Given the description of an element on the screen output the (x, y) to click on. 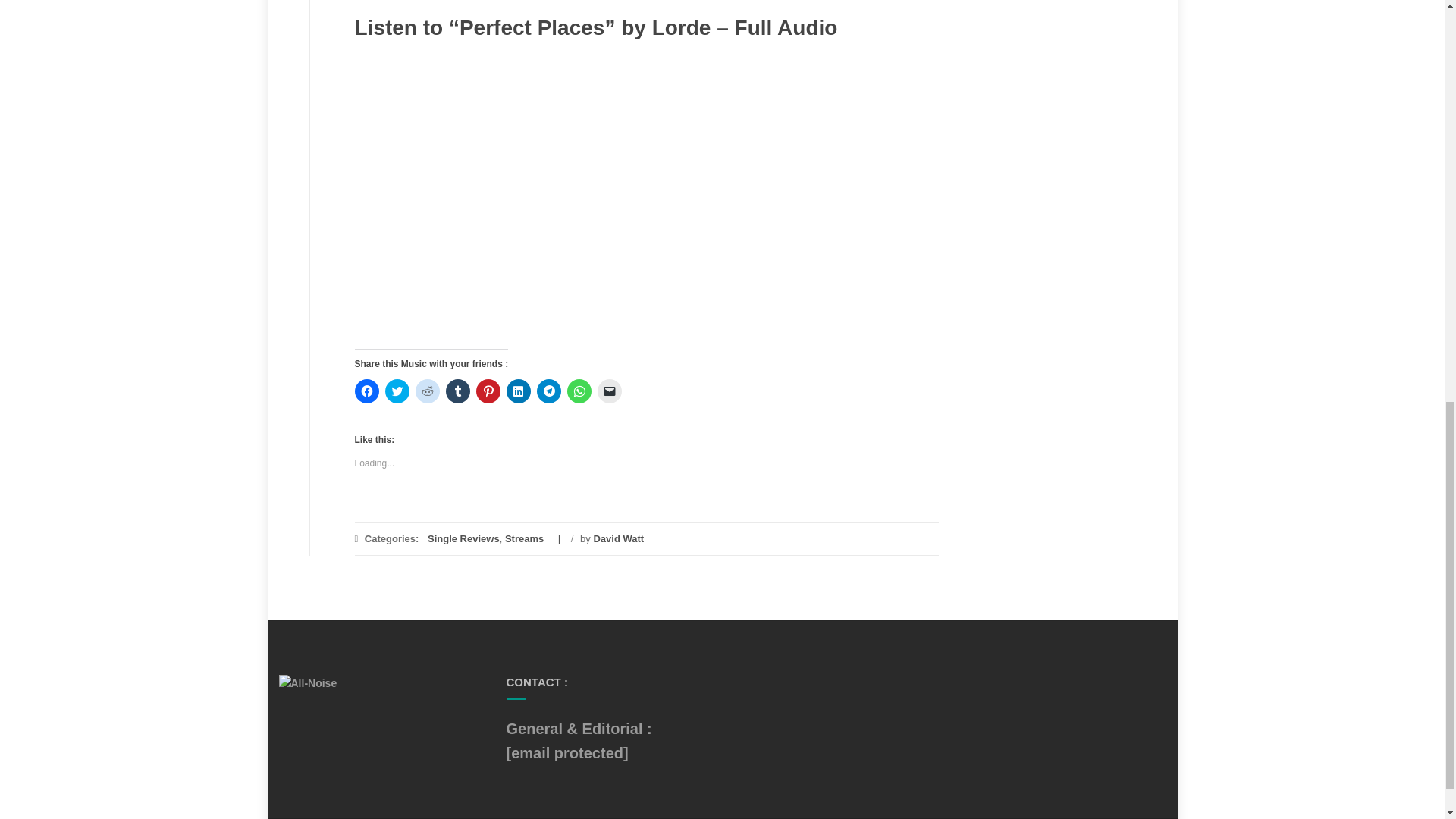
Click to share on Twitter (397, 391)
Click to share on Facebook (366, 391)
Click to email a link to a friend (608, 391)
David Watt (617, 538)
Click to share on Tumblr (457, 391)
Click to share on Telegram (548, 391)
Click to share on WhatsApp (579, 391)
Single Reviews (463, 538)
Click to share on LinkedIn (518, 391)
Streams (524, 538)
